Given the description of an element on the screen output the (x, y) to click on. 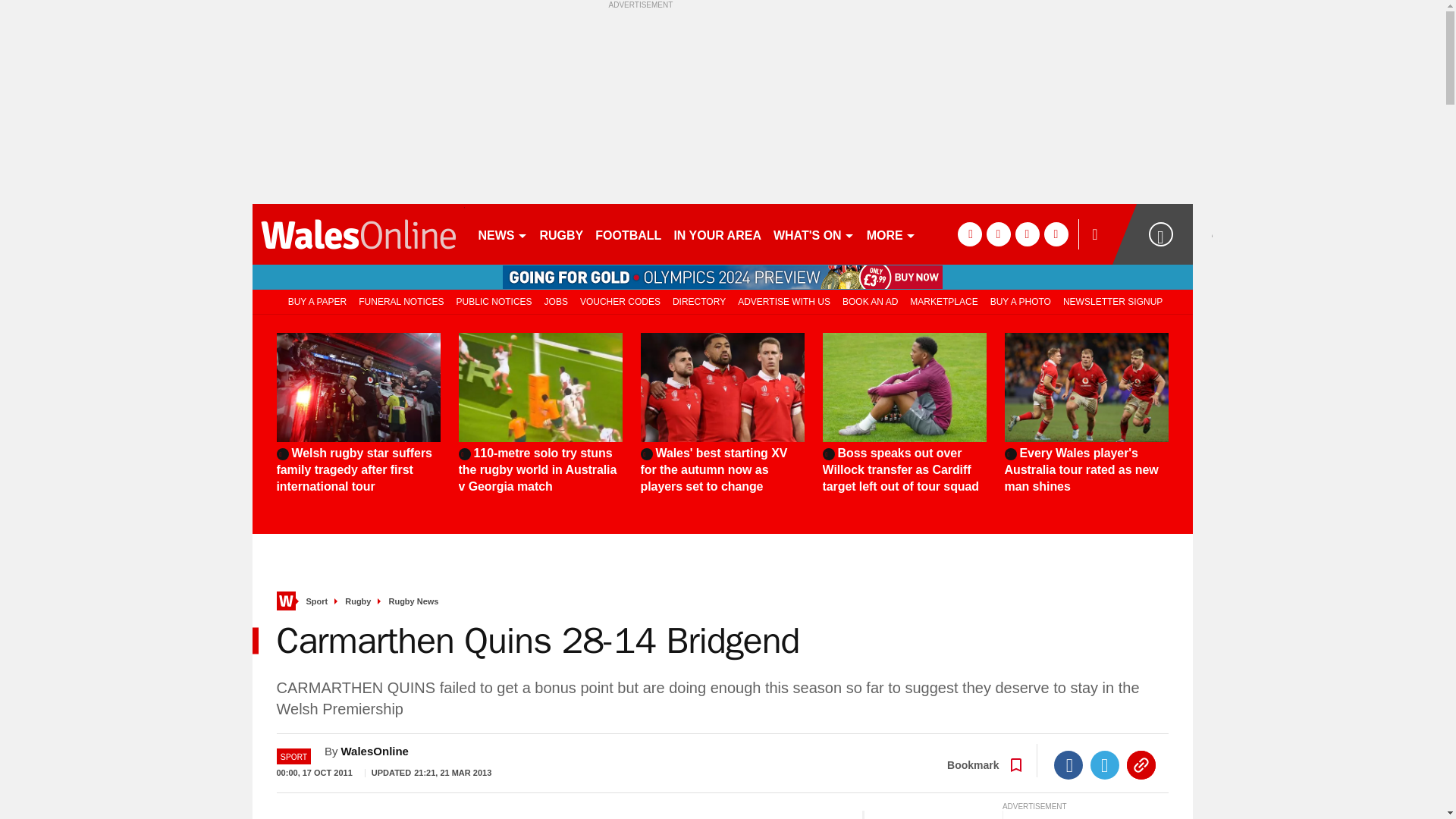
Twitter (1104, 765)
FOOTBALL (627, 233)
3rd party ad content (721, 103)
pinterest (1026, 233)
walesonline (357, 233)
instagram (1055, 233)
MORE (890, 233)
NEWS (501, 233)
facebook (968, 233)
RUGBY (561, 233)
Facebook (1068, 765)
IN YOUR AREA (716, 233)
twitter (997, 233)
